Given the description of an element on the screen output the (x, y) to click on. 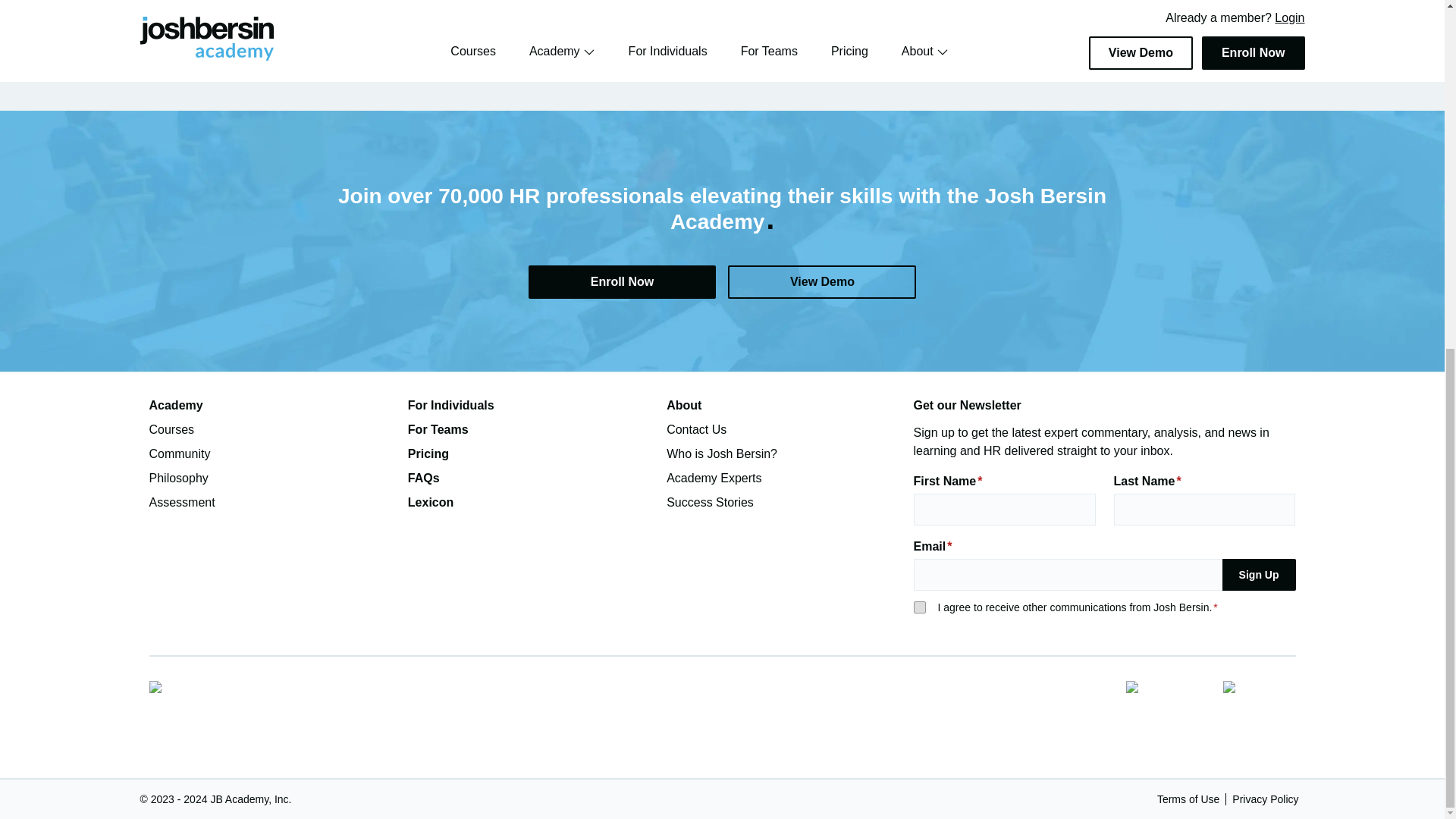
Terms of Use (1188, 799)
Who is Josh Bersin? (789, 454)
Philosophy (271, 478)
Academy Experts (789, 478)
Courses (271, 429)
Privacy Policy (1264, 799)
About (789, 405)
Community (271, 454)
Contact Us (789, 429)
For Individuals (530, 405)
Sign Up (1259, 574)
View Demo (821, 281)
Assessment (271, 502)
FAQs (530, 478)
Success Stories (789, 502)
